Given the description of an element on the screen output the (x, y) to click on. 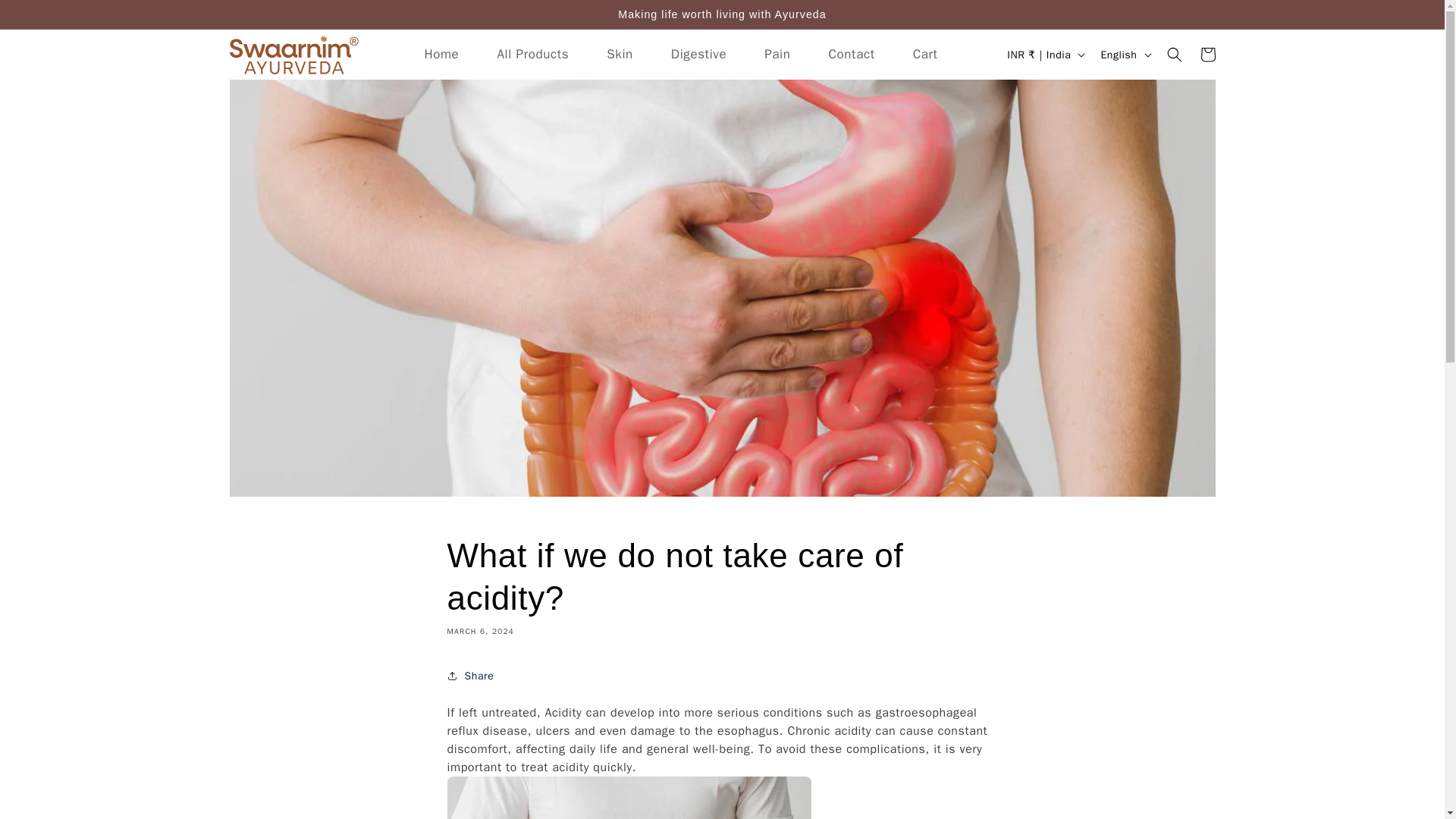
Home (440, 54)
Cart (1207, 54)
Skip to content (45, 17)
Skin (620, 54)
Digestive (698, 54)
Pain (777, 54)
All Products (532, 54)
Contact (851, 54)
Cart (924, 54)
English (1123, 54)
